Given the description of an element on the screen output the (x, y) to click on. 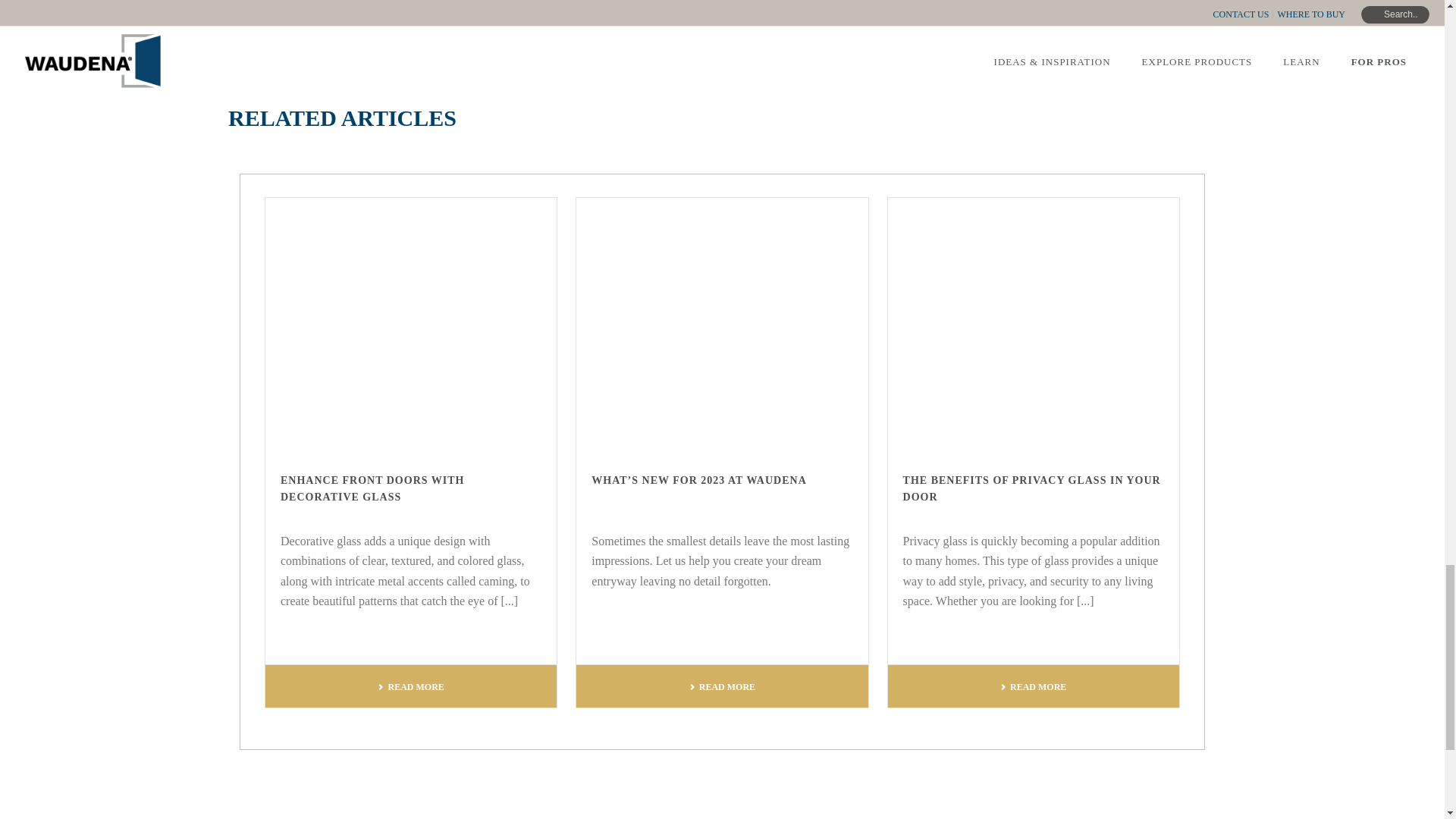
Enhance Front Doors with Decorative Glass (410, 325)
